Given the description of an element on the screen output the (x, y) to click on. 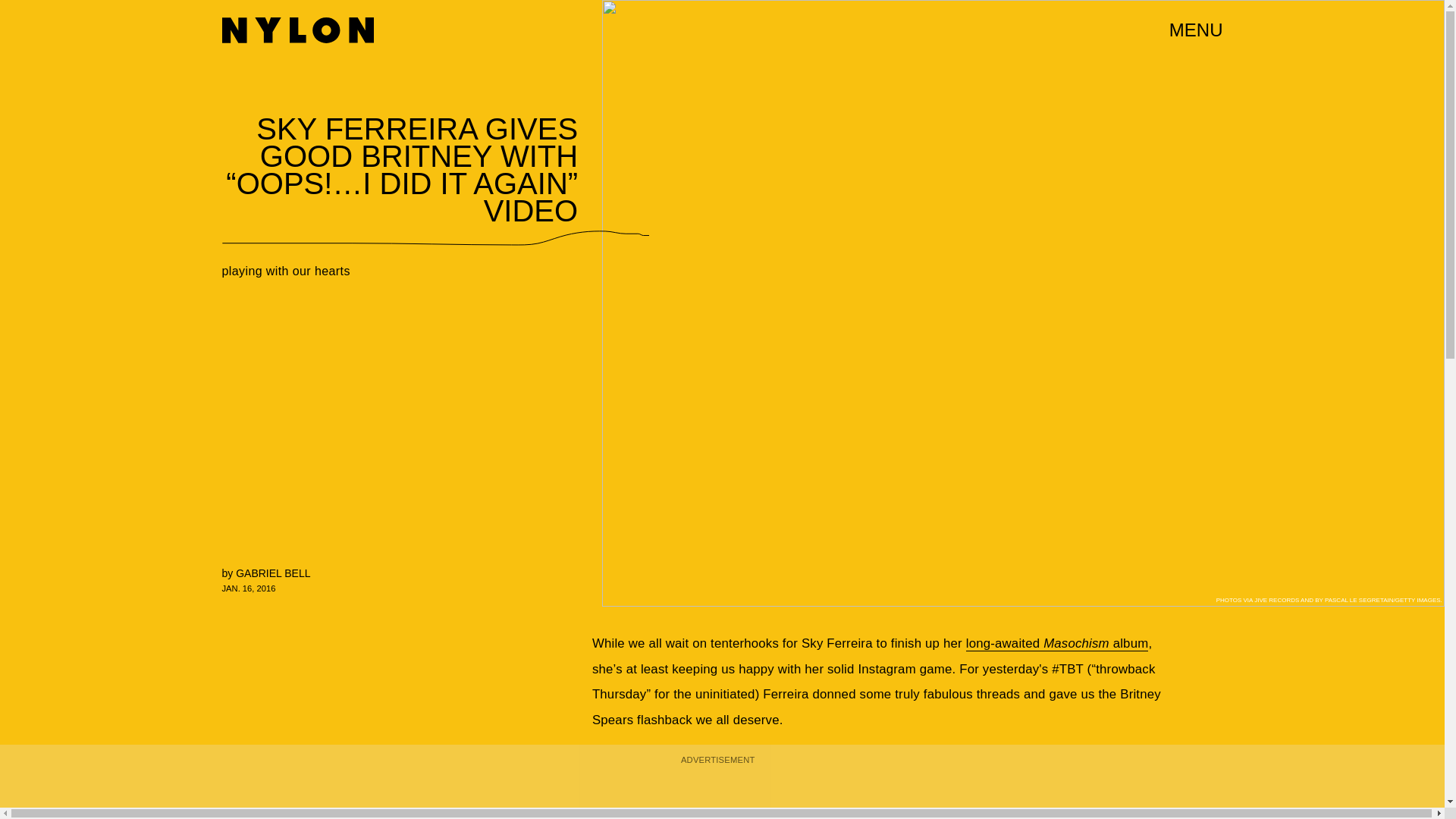
GABRIEL BELL (272, 573)
long-awaited Masochism album (1057, 643)
Nylon (296, 30)
